Given the description of an element on the screen output the (x, y) to click on. 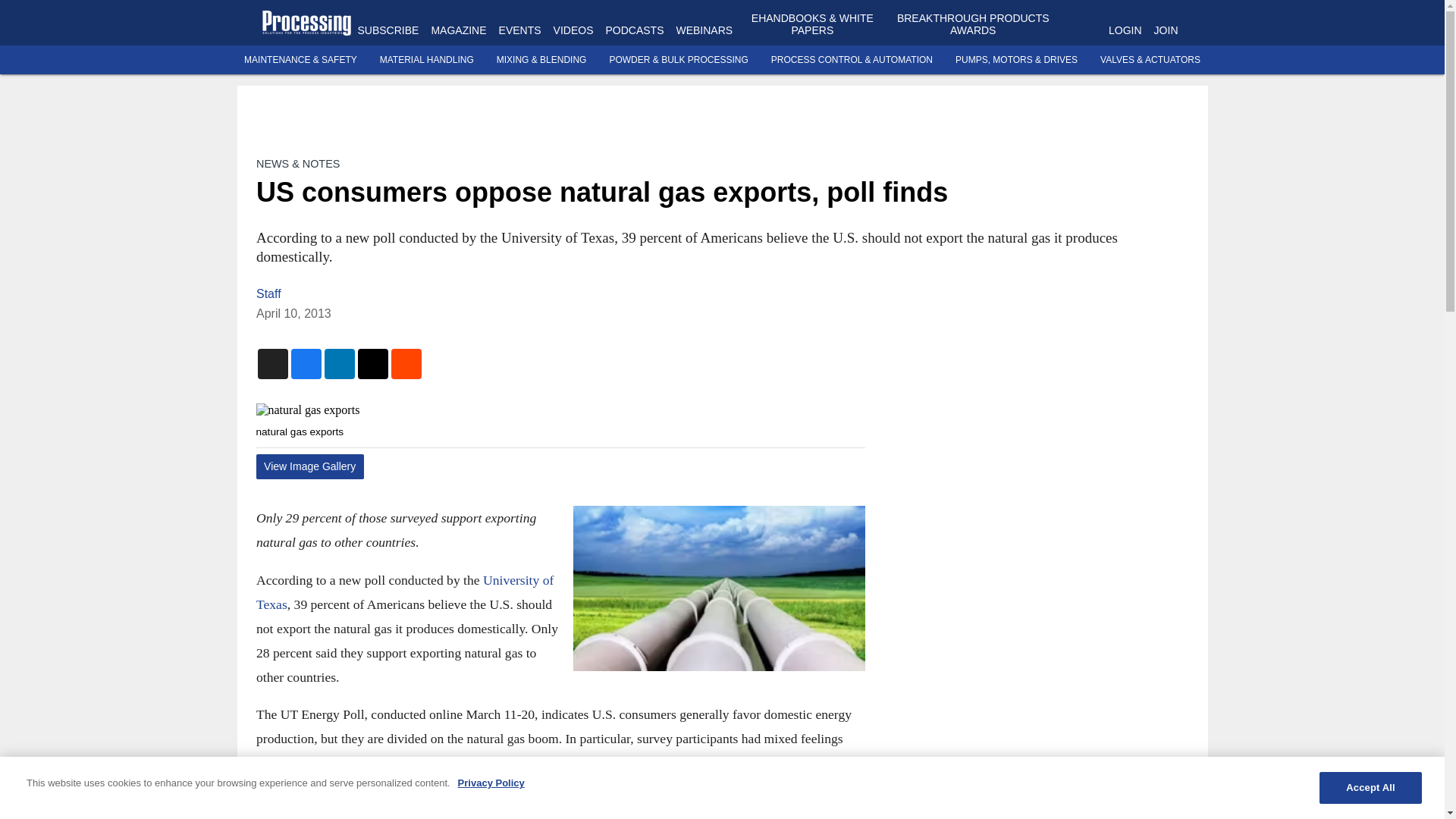
MATERIAL HANDLING (427, 59)
LOGIN (1124, 30)
WEBINARS (703, 30)
Ts 119744231 720x405 72dpi Rgb (718, 588)
natural gas exports (560, 409)
VIDEOS (573, 30)
JOIN (1165, 30)
EVENTS (520, 30)
MAGAZINE (458, 30)
PODCASTS (634, 30)
BREAKTHROUGH PRODUCTS AWARDS (972, 24)
SUBSCRIBE (388, 30)
